Given the description of an element on the screen output the (x, y) to click on. 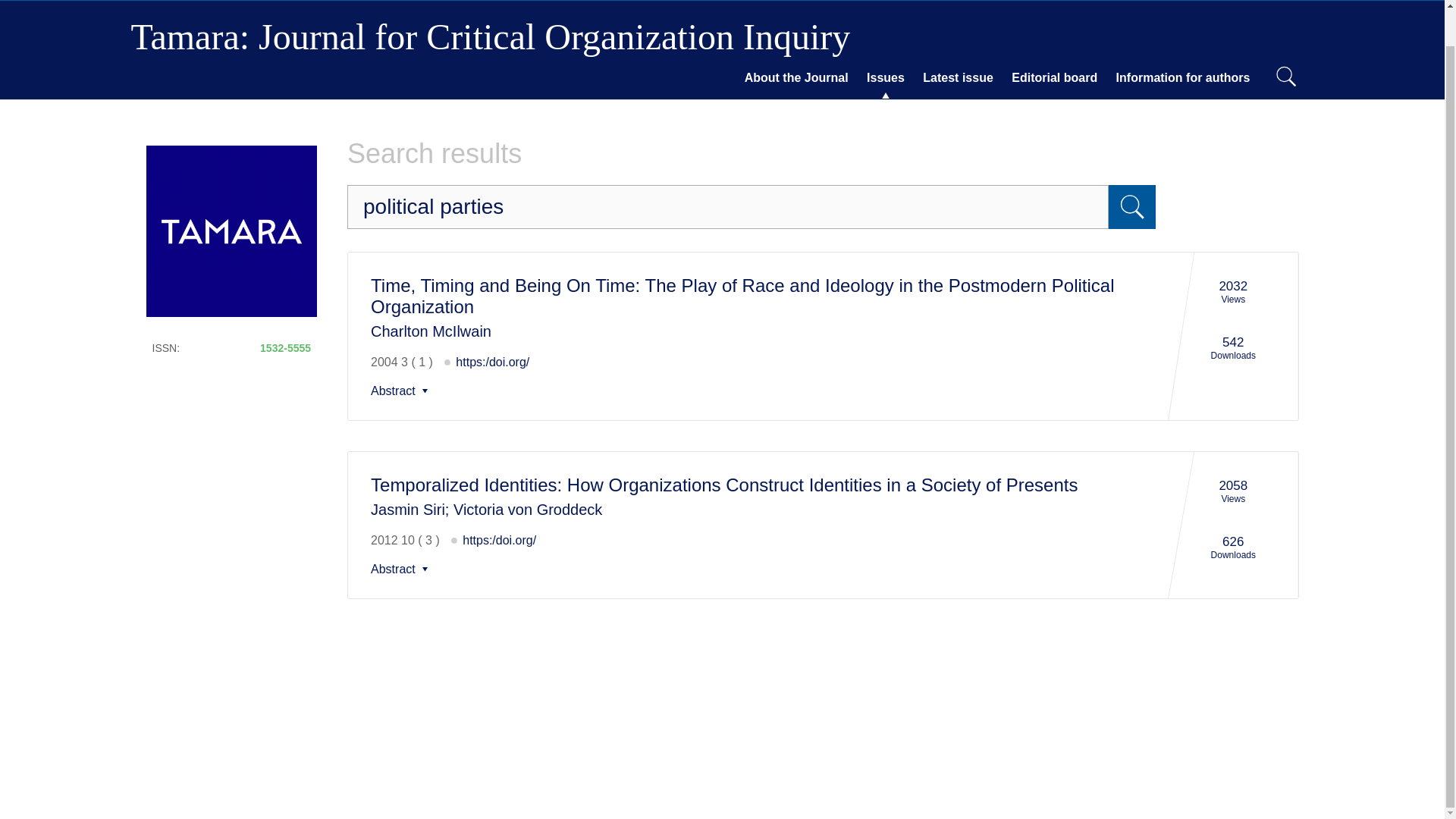
Editorial board (1054, 77)
Issues (885, 77)
Latest issue (957, 77)
Tamara: Journal for Critical Organization Inquiry (490, 36)
Information for authors (402, 391)
political parties (402, 569)
About the Journal (1182, 77)
